Given the description of an element on the screen output the (x, y) to click on. 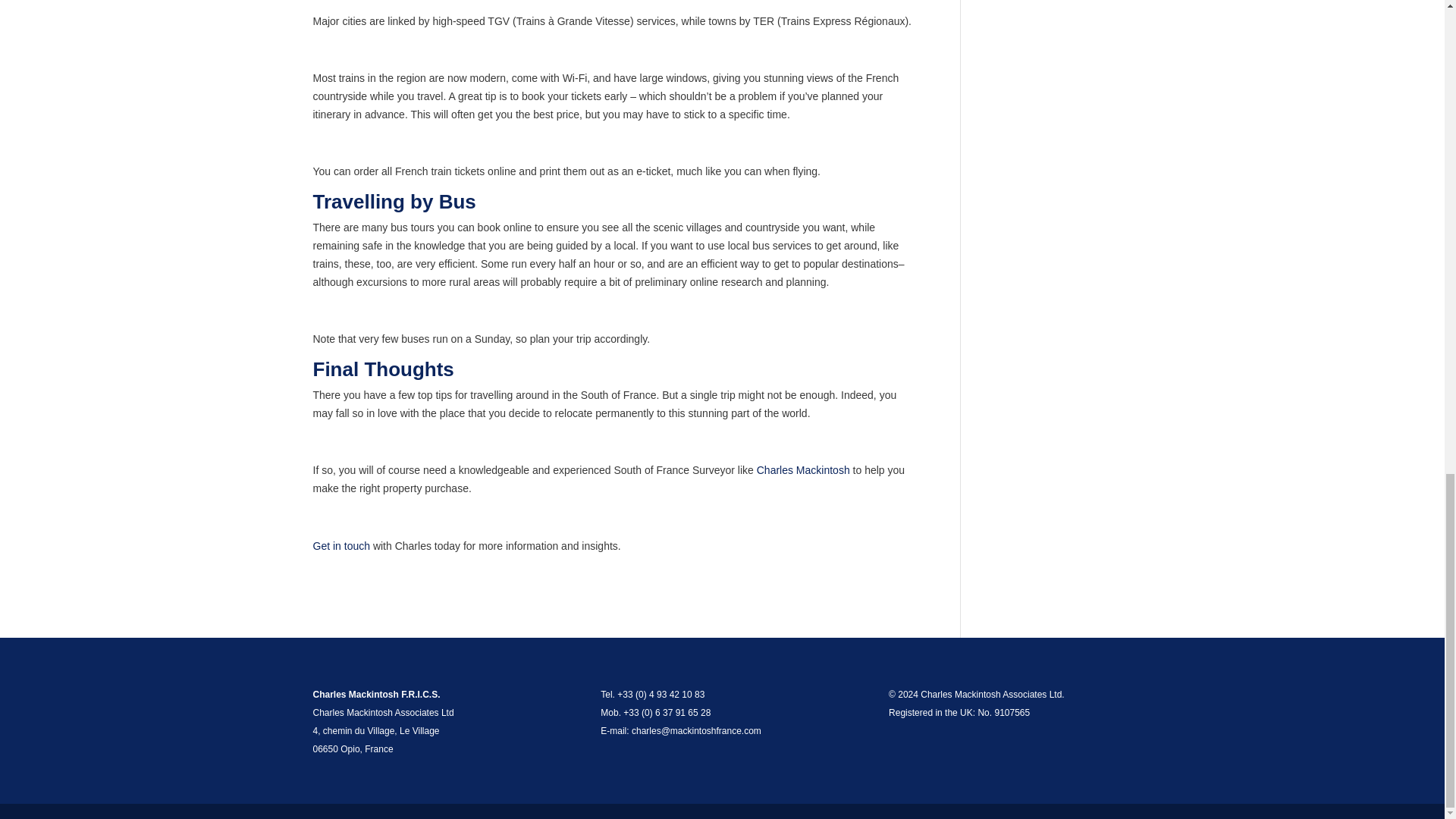
Charles Mackintosh (803, 469)
Get in touch (341, 545)
